Given the description of an element on the screen output the (x, y) to click on. 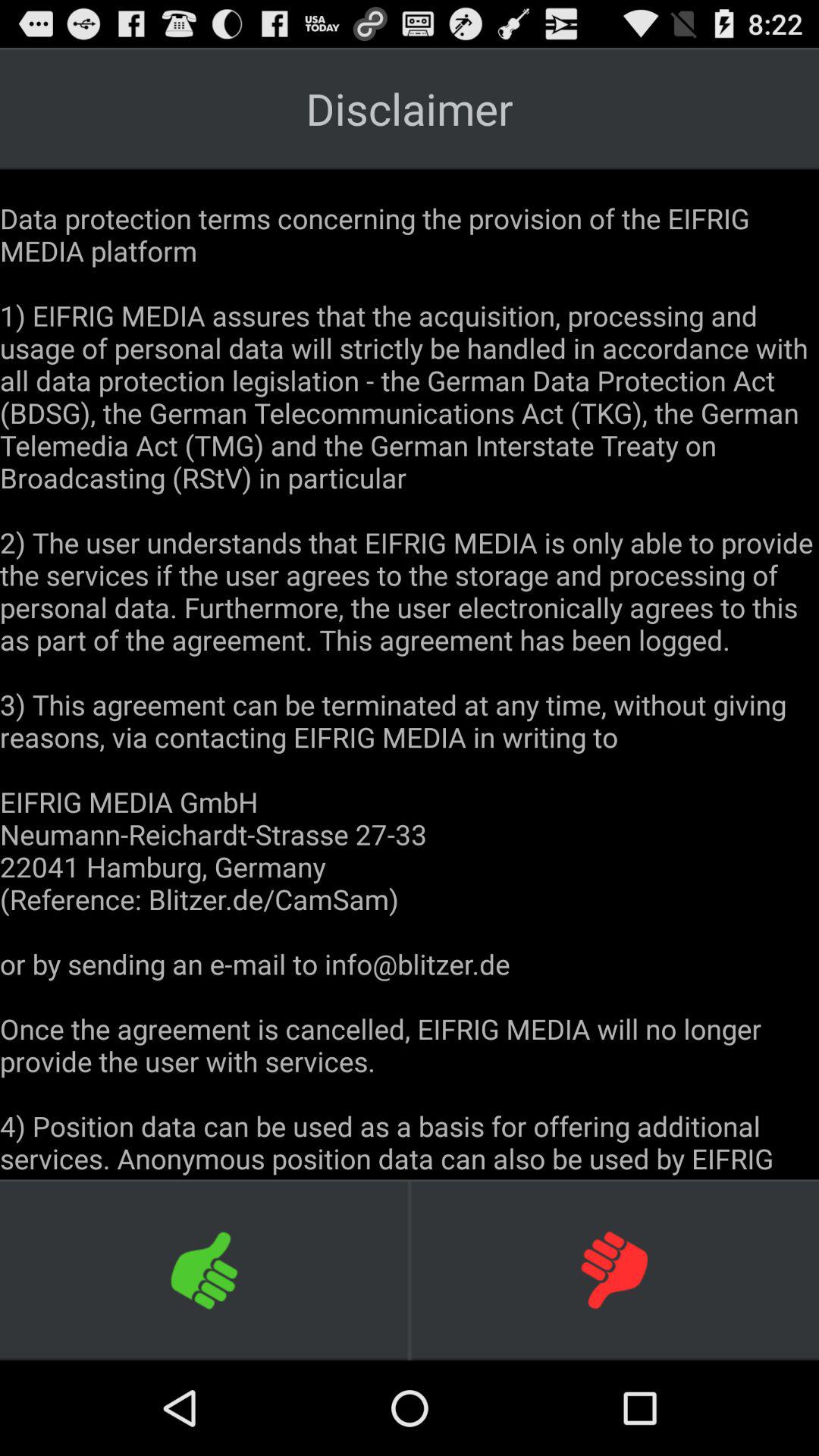
thumbs up (204, 1269)
